Given the description of an element on the screen output the (x, y) to click on. 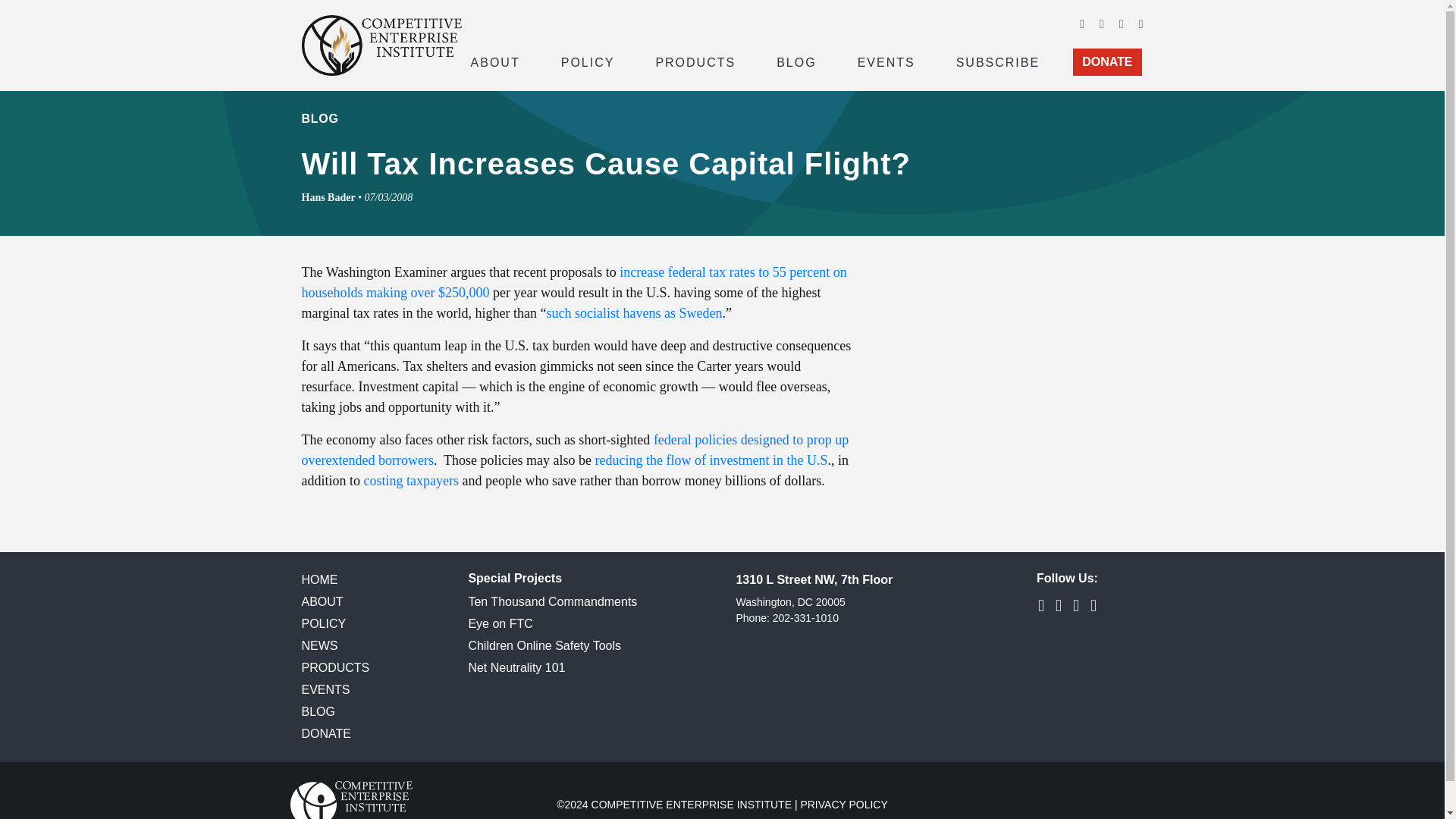
POLICY (588, 61)
EVENTS (886, 61)
SUBSCRIBE (997, 61)
ABOUT (495, 61)
BLOG (796, 61)
DONATE (1107, 62)
PRODUCTS (694, 61)
